Given the description of an element on the screen output the (x, y) to click on. 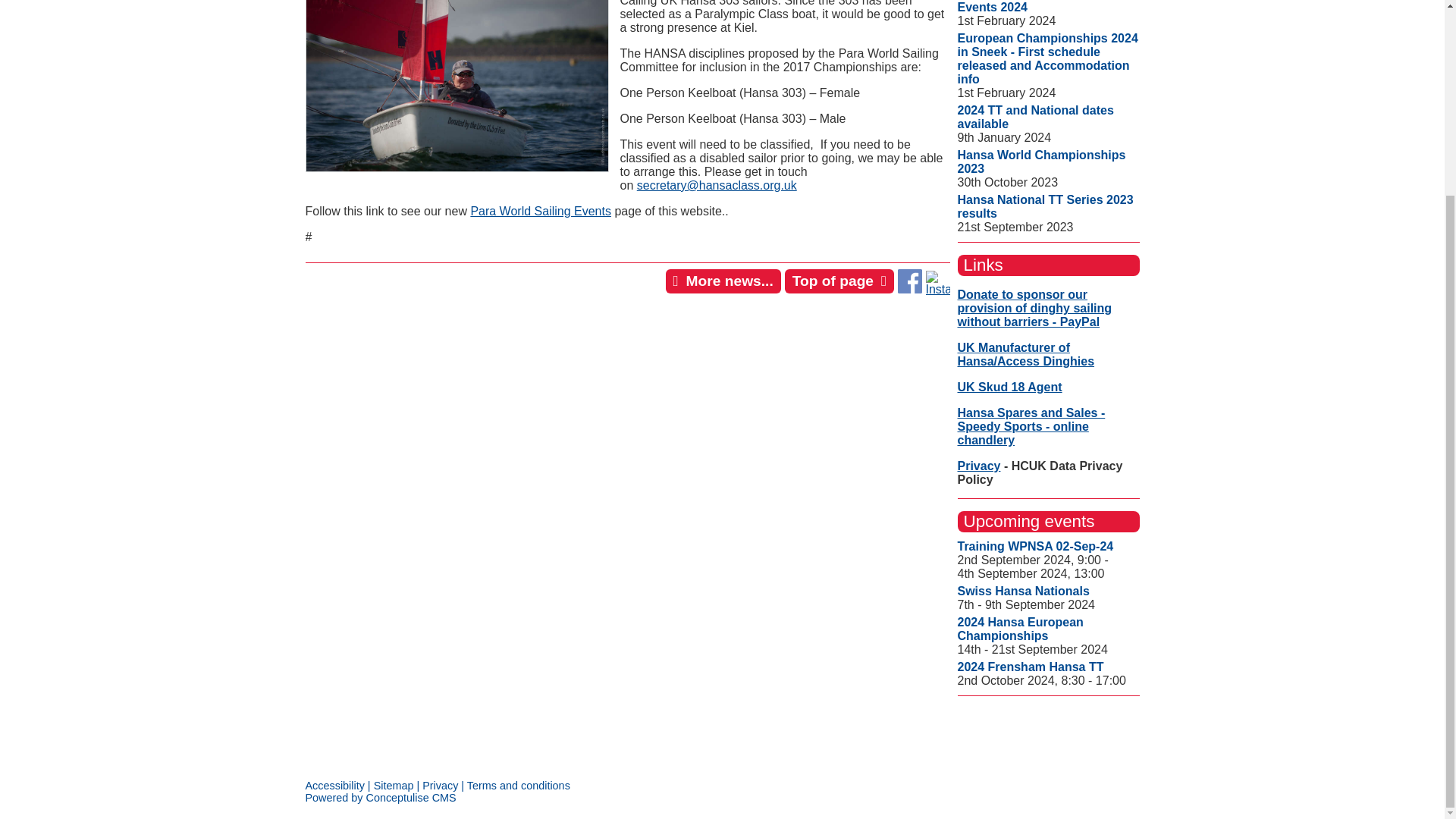
Hansa Class UK Instagram (936, 288)
Website privacy statement (440, 785)
Website Accessibility (334, 785)
Website terms and conditions (518, 785)
Hansa World Championships 2023 (1040, 161)
More news... (722, 281)
International Hansa Class Events 2024 (1030, 6)
International Hansa Class Events 2024 (1030, 6)
Para World Sailing Events (540, 210)
